Given the description of an element on the screen output the (x, y) to click on. 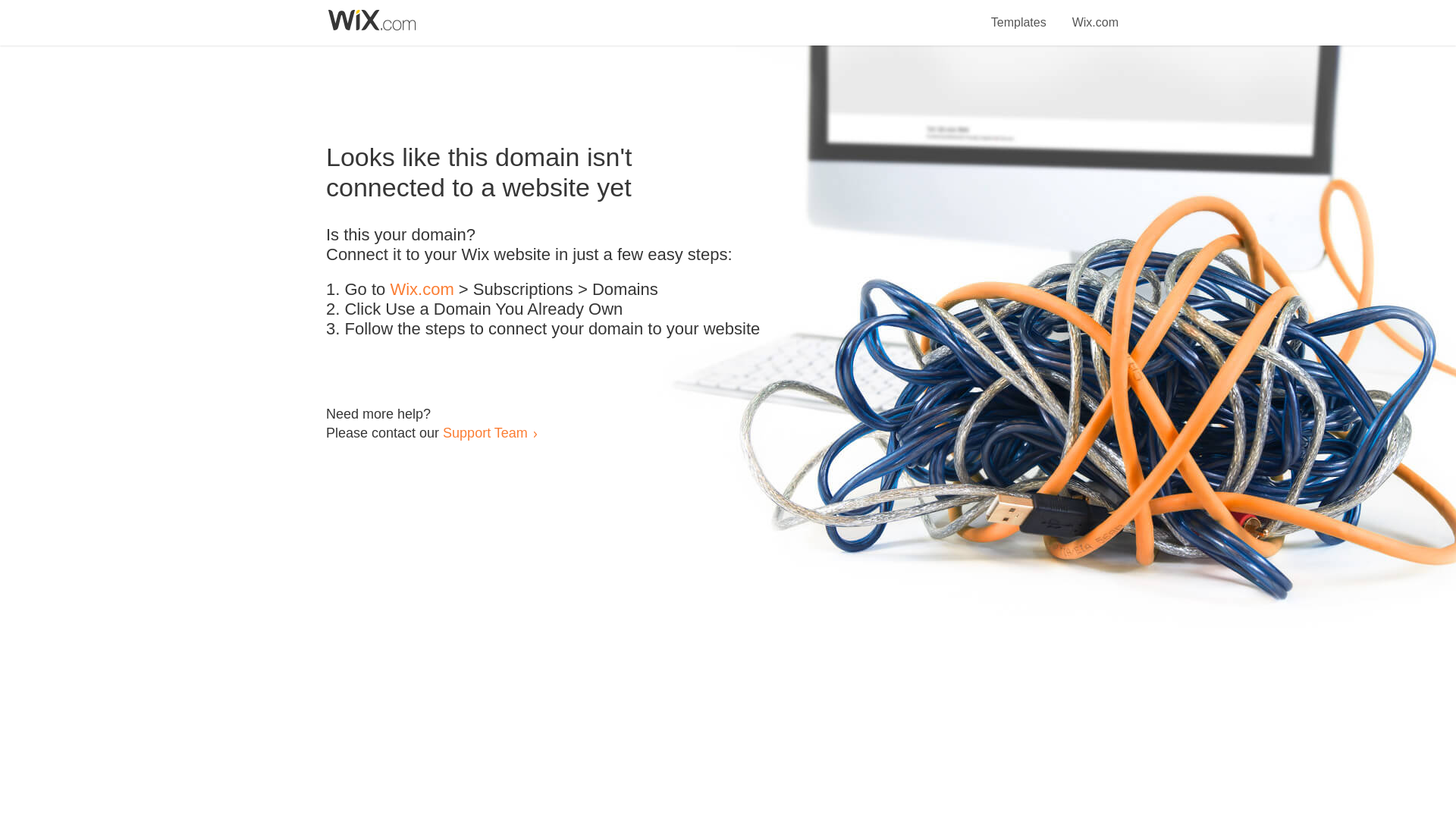
Wix.com (1095, 14)
Wix.com (421, 289)
Support Team (484, 432)
Templates (1018, 14)
